Given the description of an element on the screen output the (x, y) to click on. 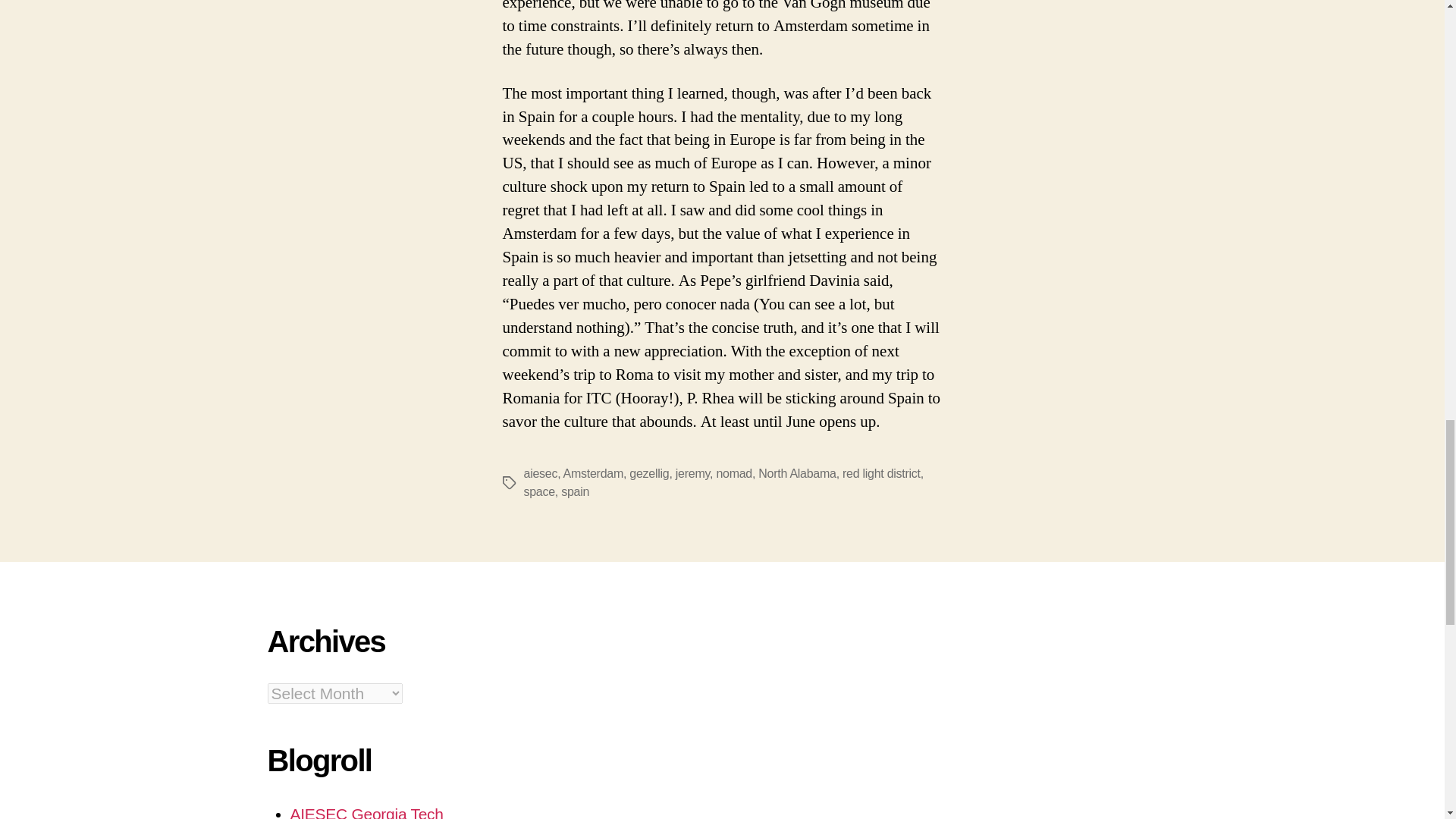
AIESEC Georgia Tech (365, 812)
gezellig (648, 472)
space (538, 491)
Blog for AIESEC LC Georgia Tech (365, 812)
Amsterdam (593, 472)
North Alabama (796, 472)
spain (574, 491)
nomad (734, 472)
aiesec (539, 472)
red light district (881, 472)
jeremy (692, 472)
